Given the description of an element on the screen output the (x, y) to click on. 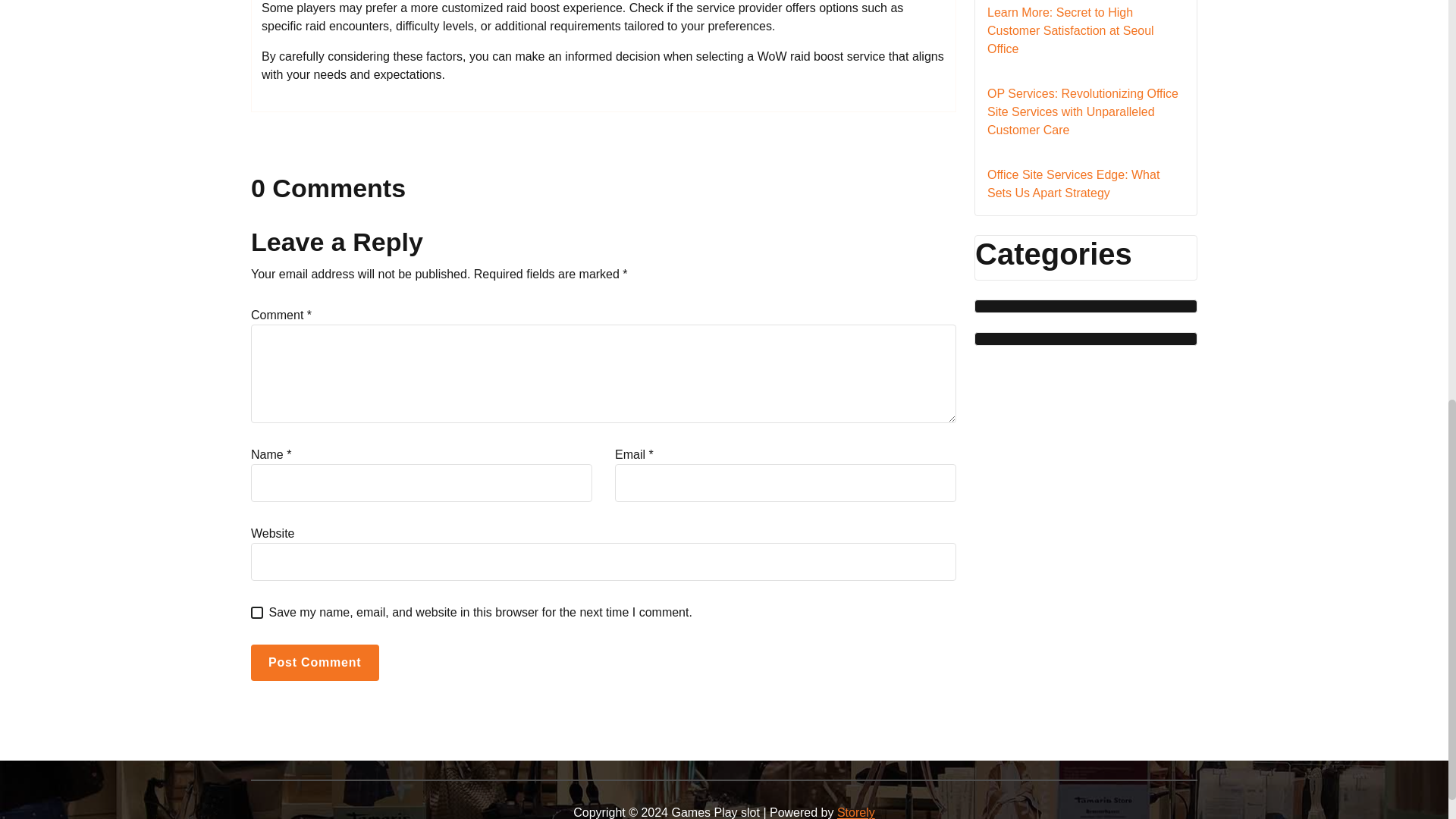
Post Comment (314, 662)
yes (256, 612)
